Given the description of an element on the screen output the (x, y) to click on. 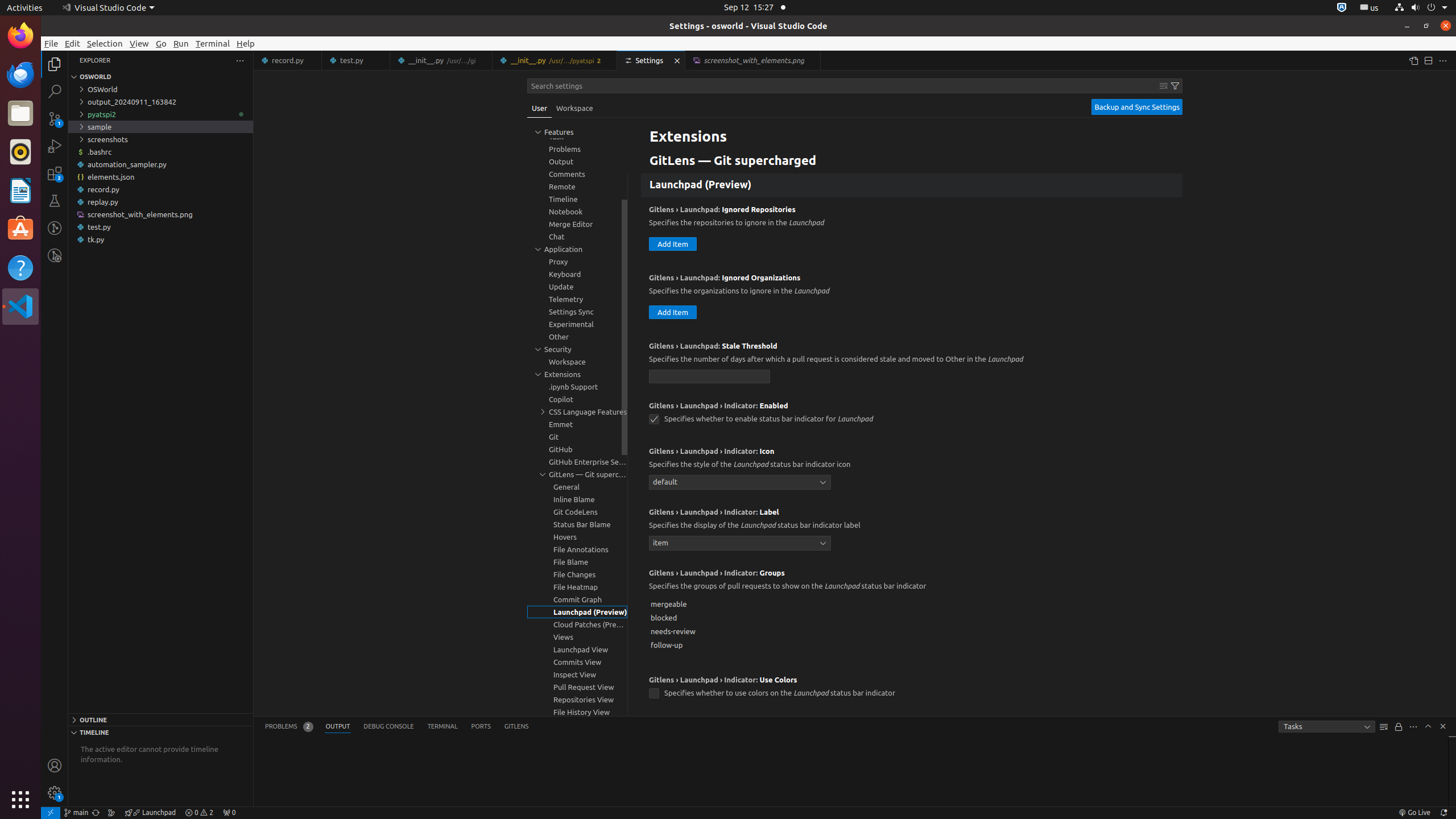
File Element type: push-button (50, 43)
Notifications Element type: push-button (1443, 812)
.bashrc Element type: tree-item (160, 151)
File Annotations, group Element type: tree-item (577, 549)
Ports Element type: page-tab (480, 726)
